Given the description of an element on the screen output the (x, y) to click on. 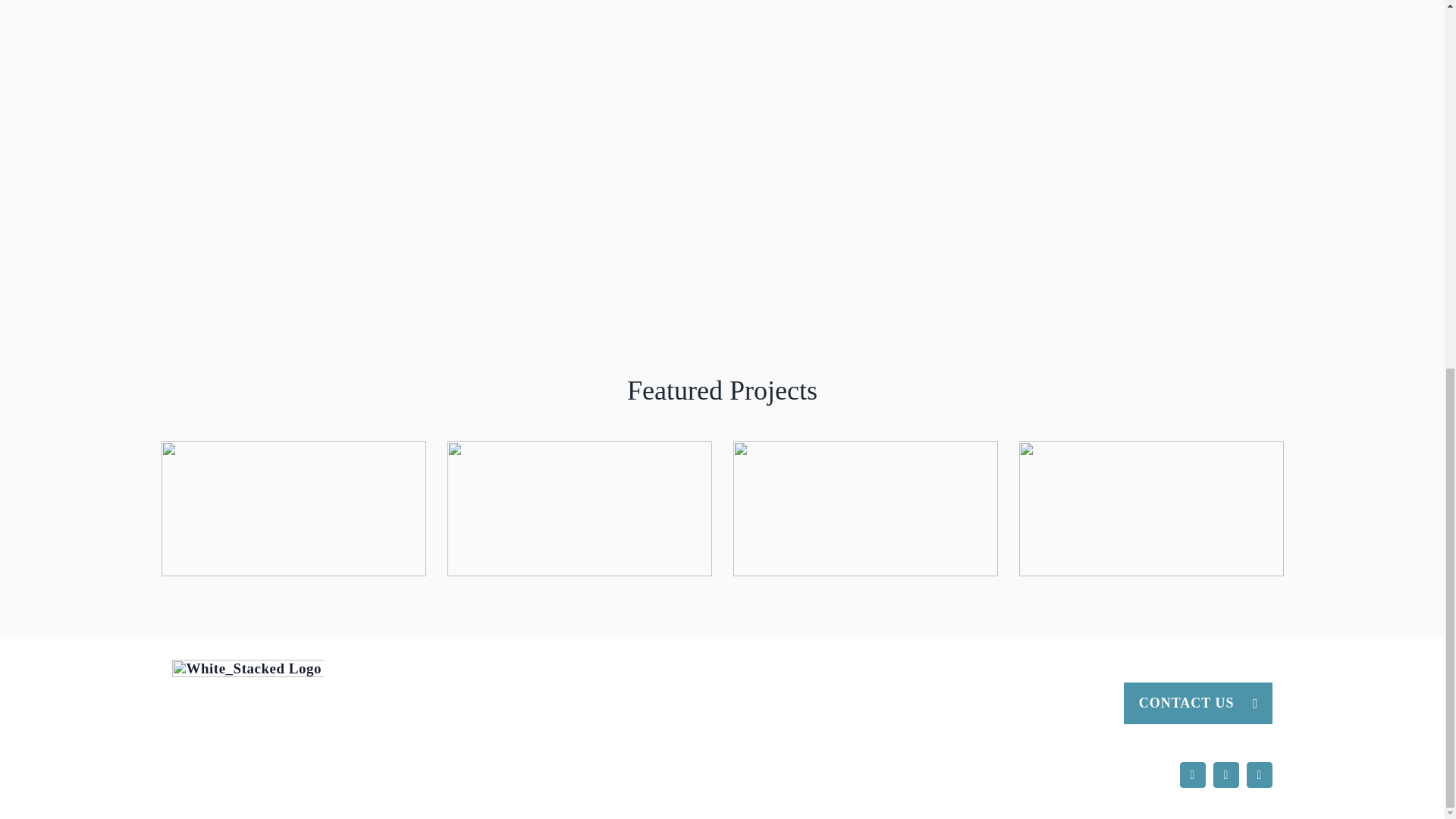
SERVICES (893, 703)
Facebook (1192, 774)
NEW FRAME CREATIVE (568, 774)
LinkedIn (1259, 774)
Instagram (1225, 774)
CONTACT US (1198, 702)
BID INFORMATION (1026, 703)
HOME (806, 703)
